Given the description of an element on the screen output the (x, y) to click on. 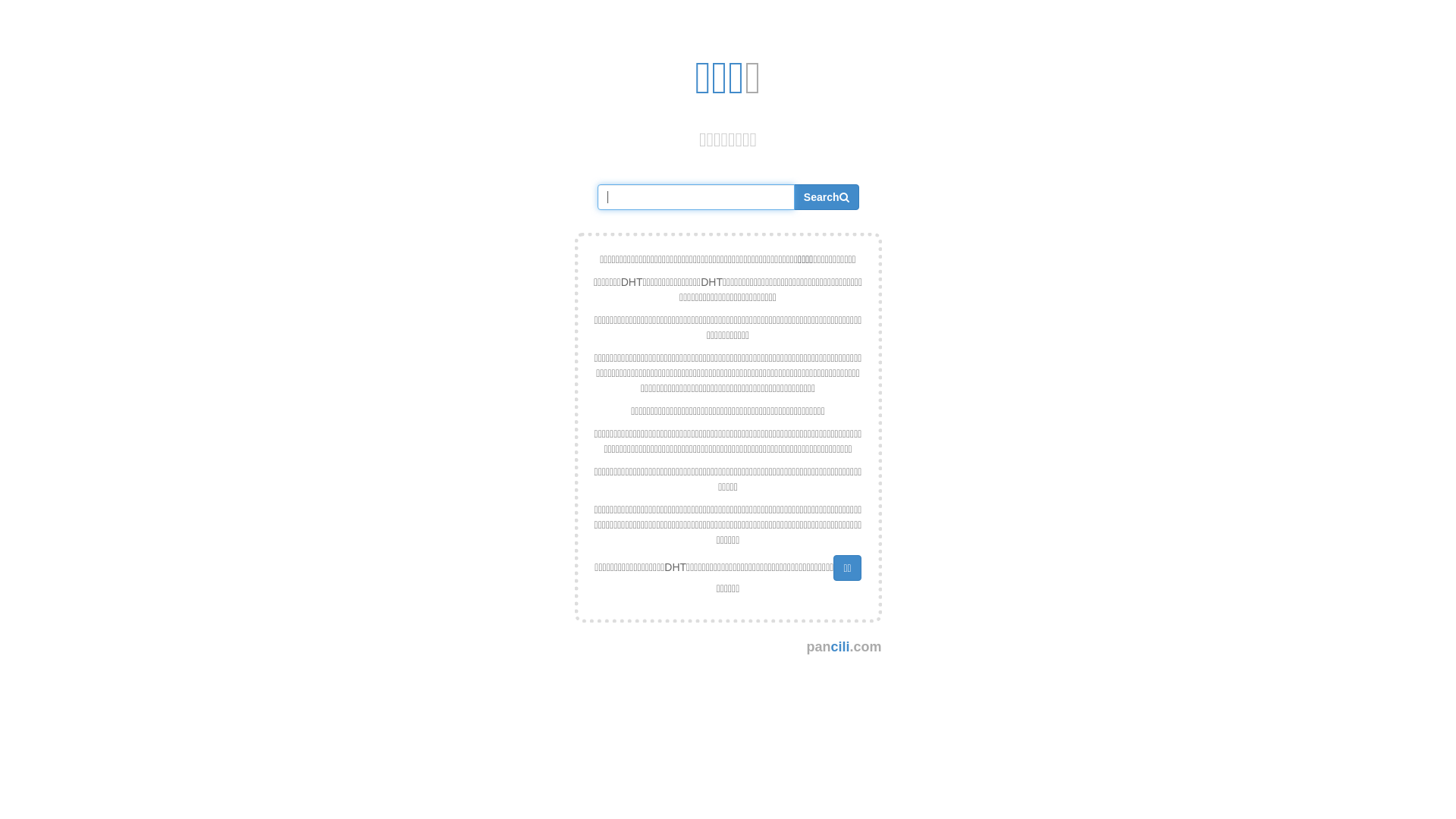
Search Element type: text (826, 197)
